Given the description of an element on the screen output the (x, y) to click on. 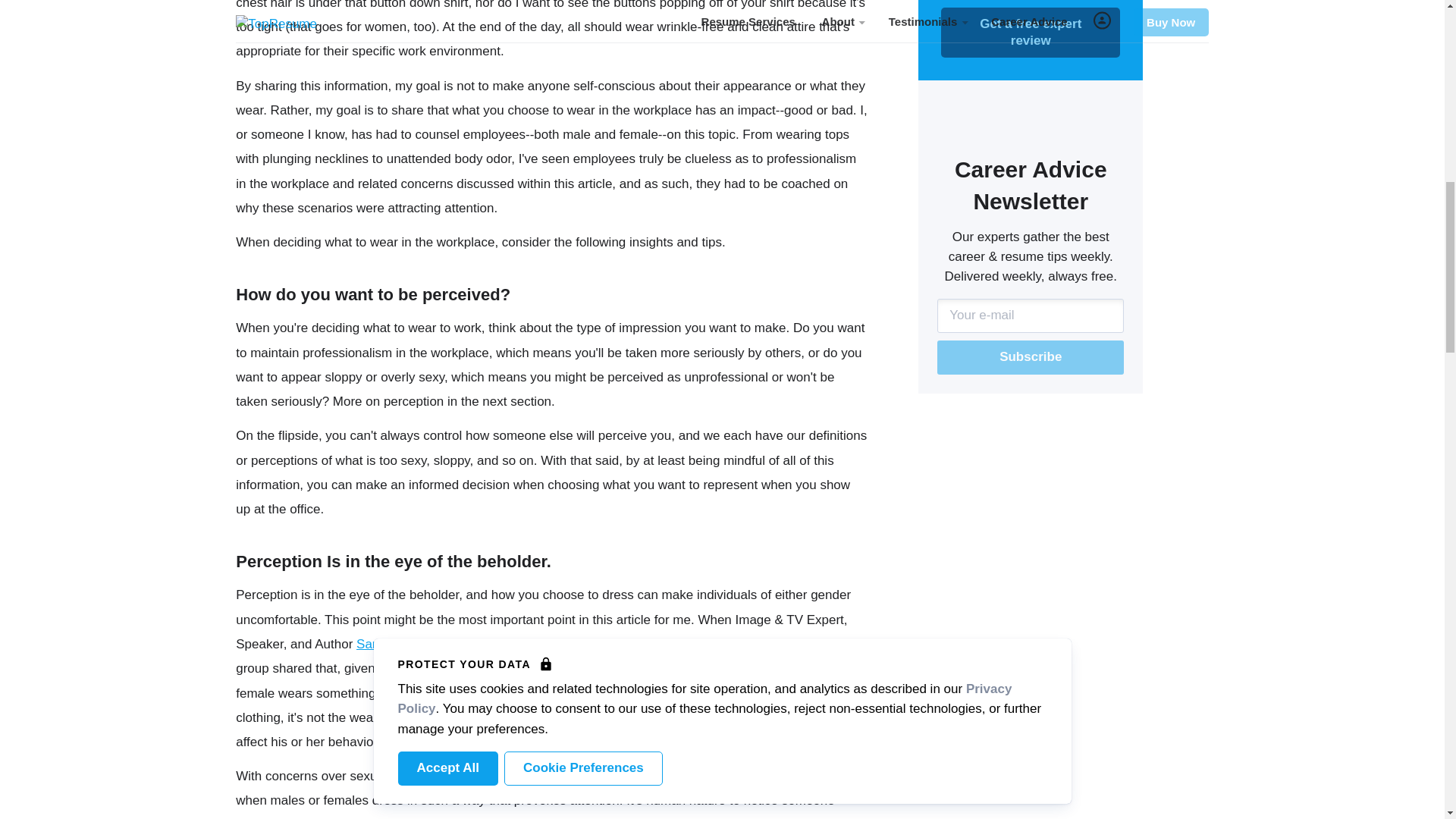
Subscribe (1030, 357)
Sarah Shah (390, 644)
Sarah Shah (390, 644)
Get a free expert review (1029, 32)
